Given the description of an element on the screen output the (x, y) to click on. 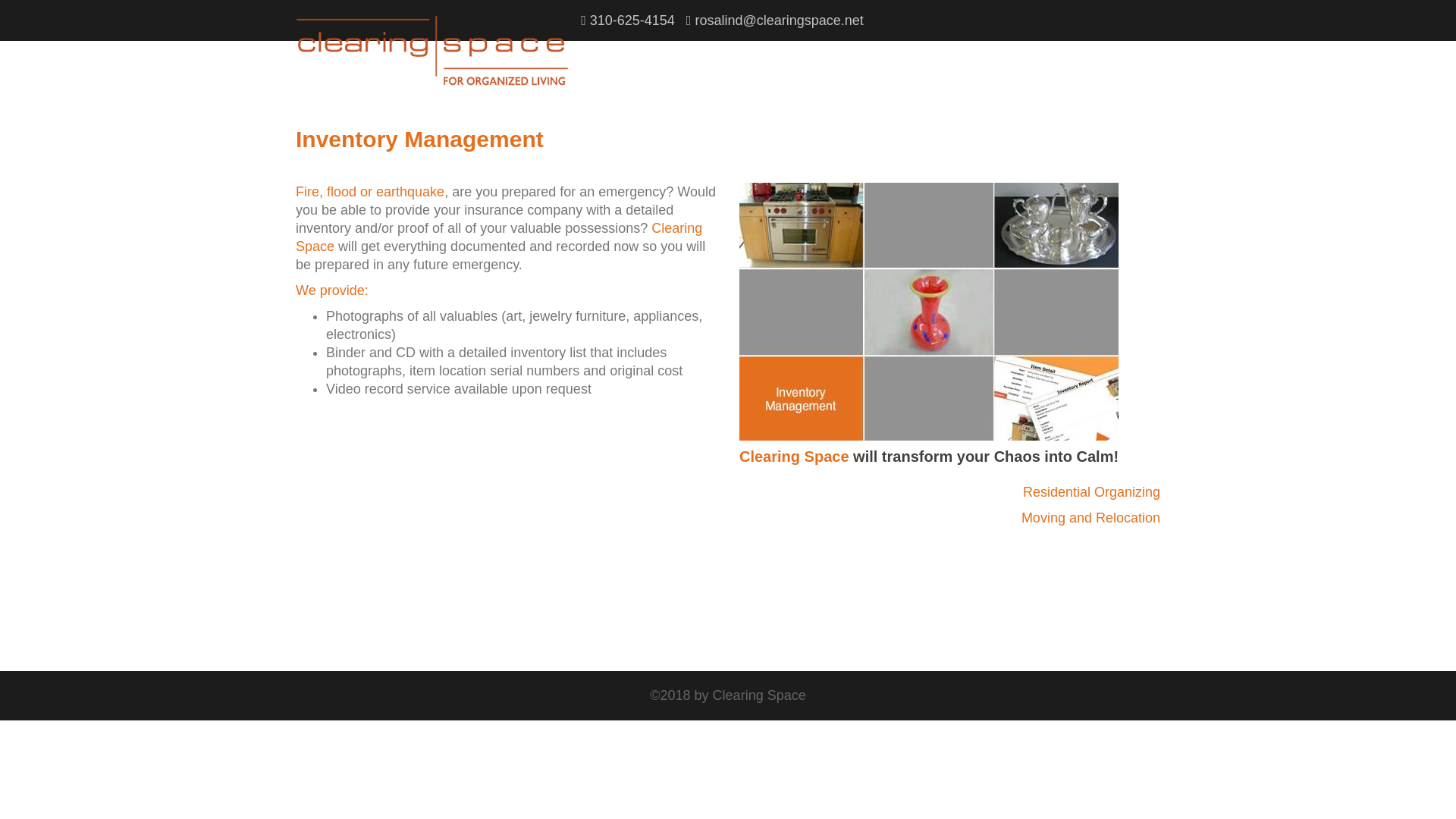
Moving and Relocation (1091, 517)
Clearing Space (432, 49)
About (907, 50)
Residential Organizing (1091, 491)
Services (962, 50)
Mission (852, 50)
Home (799, 50)
People Are Talking (1048, 50)
Contact (1131, 50)
